Given the description of an element on the screen output the (x, y) to click on. 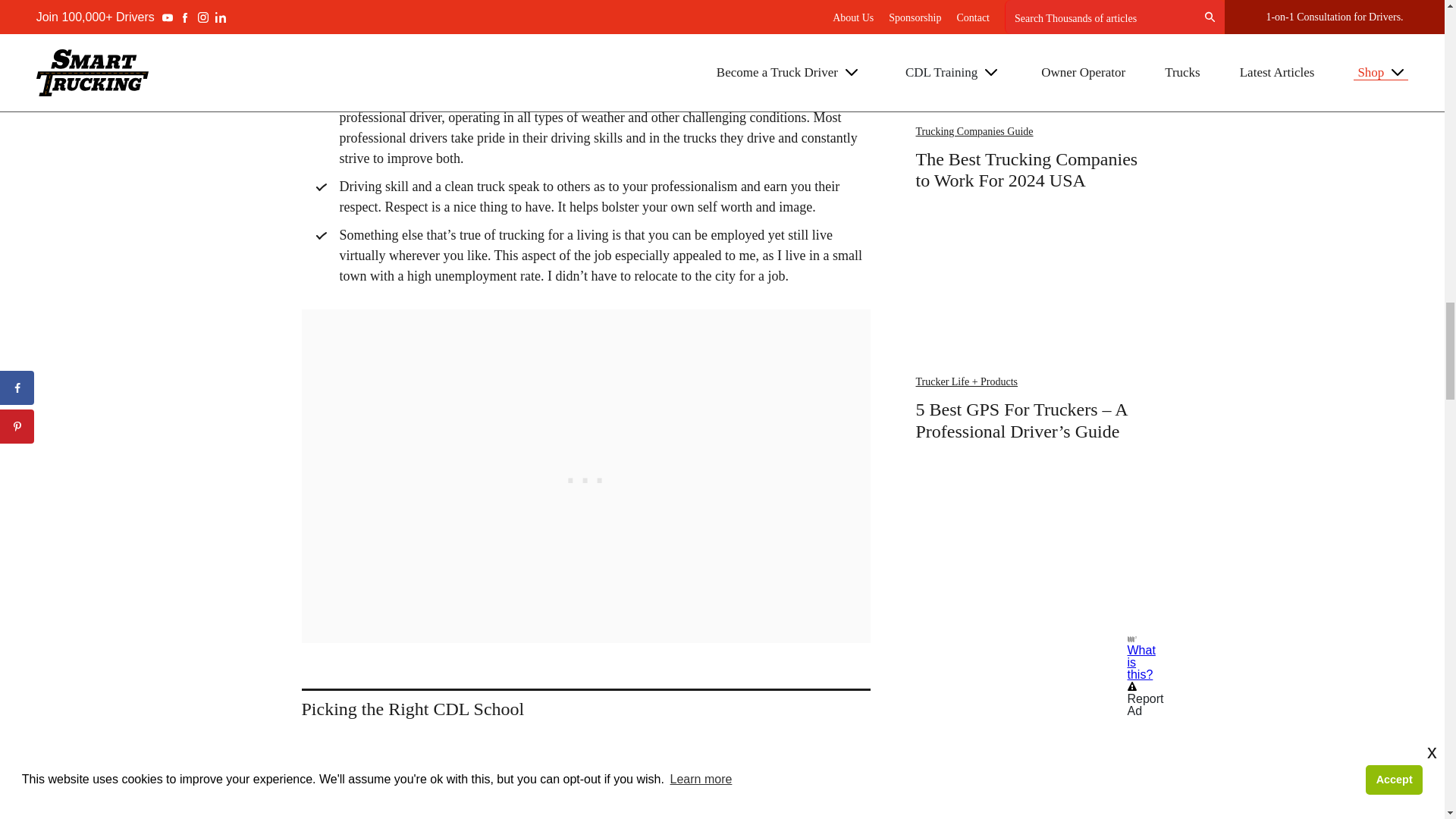
3rd party ad content (1028, 537)
